Given the description of an element on the screen output the (x, y) to click on. 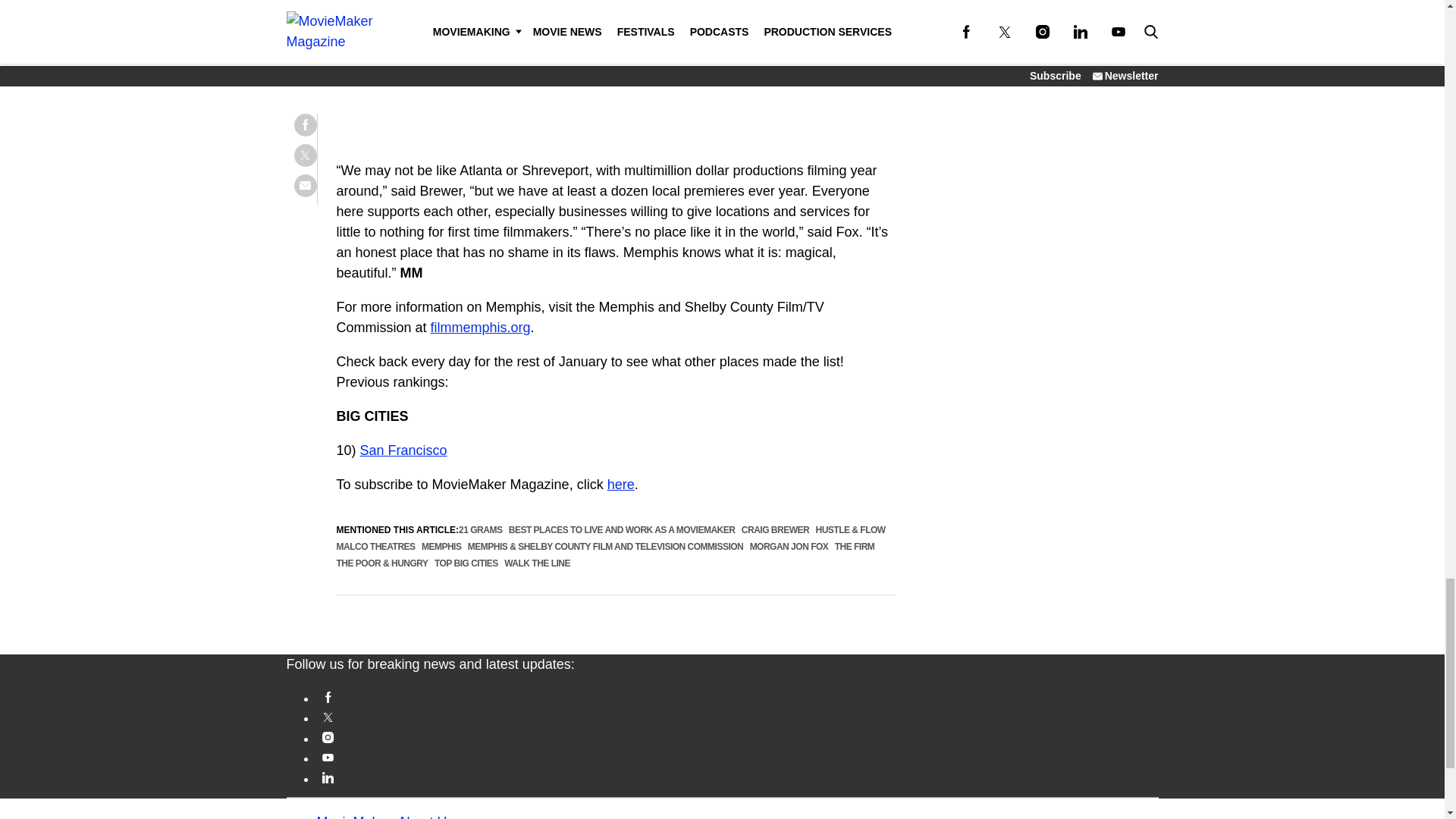
MovieMaker: About Us (385, 816)
Connect with us on LinkedIn (737, 777)
Subscribe to our YouTube channel (737, 756)
Follow us on Instagram (737, 737)
Follow us on Twitter (737, 716)
Follow us on Facebook (737, 696)
